Given the description of an element on the screen output the (x, y) to click on. 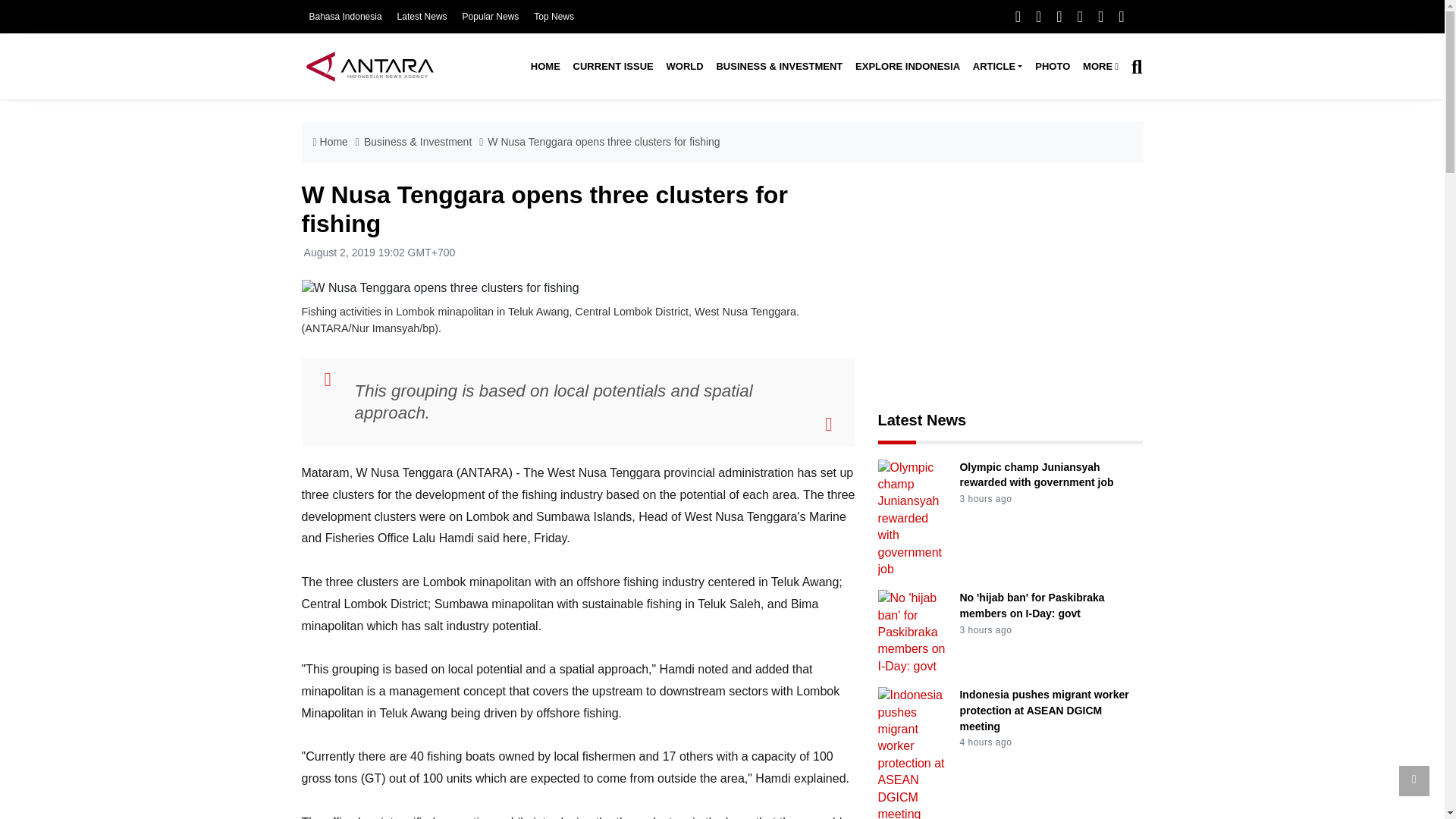
Latest News (421, 16)
ANTARA News (369, 66)
Popular News (491, 16)
Bahasa Indonesia (344, 16)
ARTICLE (996, 66)
Top News (553, 16)
Article (996, 66)
Latest News (421, 16)
Bahasa Indonesia (344, 16)
